Given the description of an element on the screen output the (x, y) to click on. 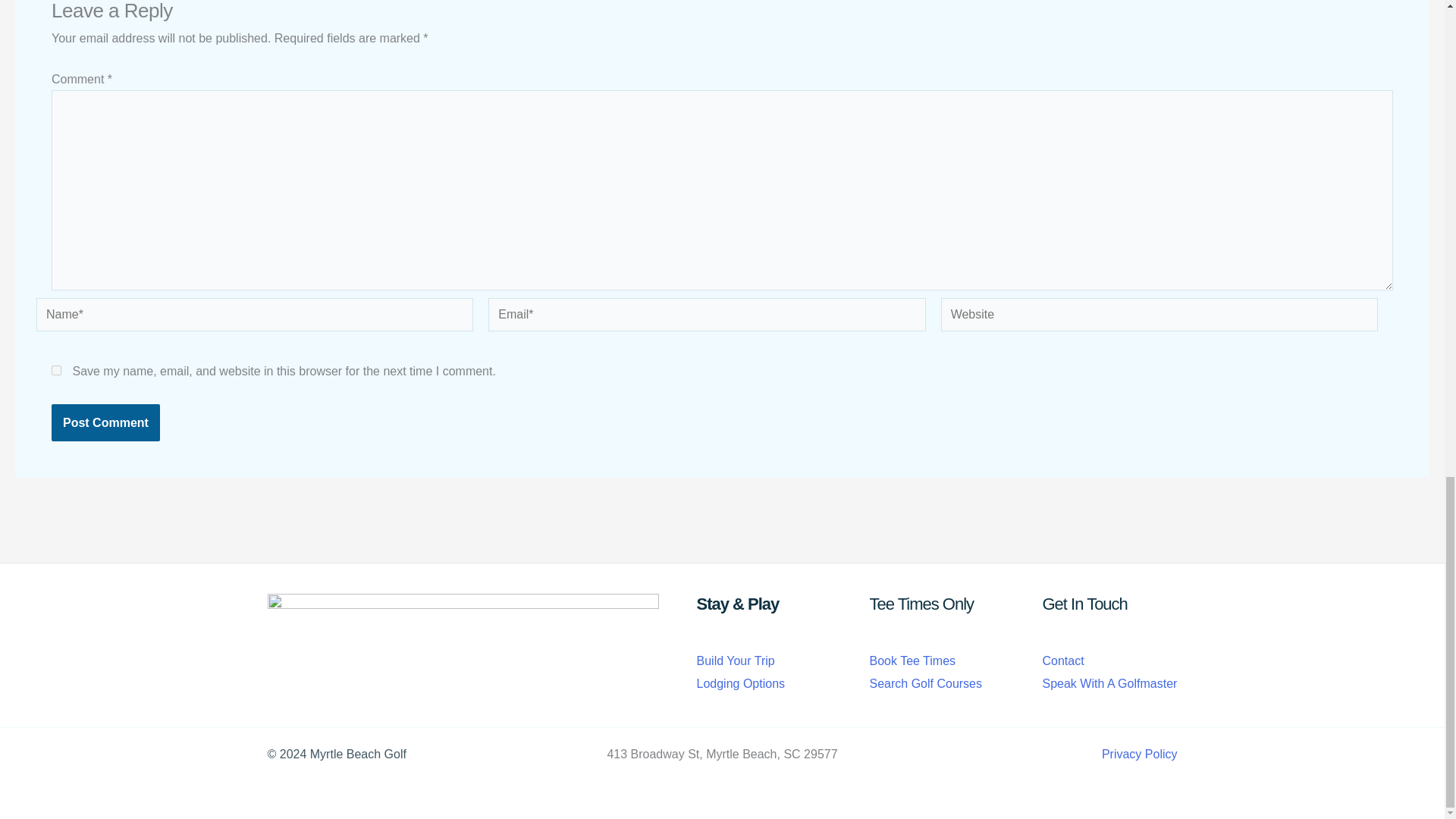
Privacy Policy (1139, 753)
Speak With A Golfmaster (1109, 683)
Book Tee Times (912, 660)
yes (55, 370)
Search Golf Courses (925, 683)
Lodging Options (739, 683)
Contact (1062, 660)
Post Comment (105, 423)
Build Your Trip (734, 660)
Post Comment (105, 423)
